Given the description of an element on the screen output the (x, y) to click on. 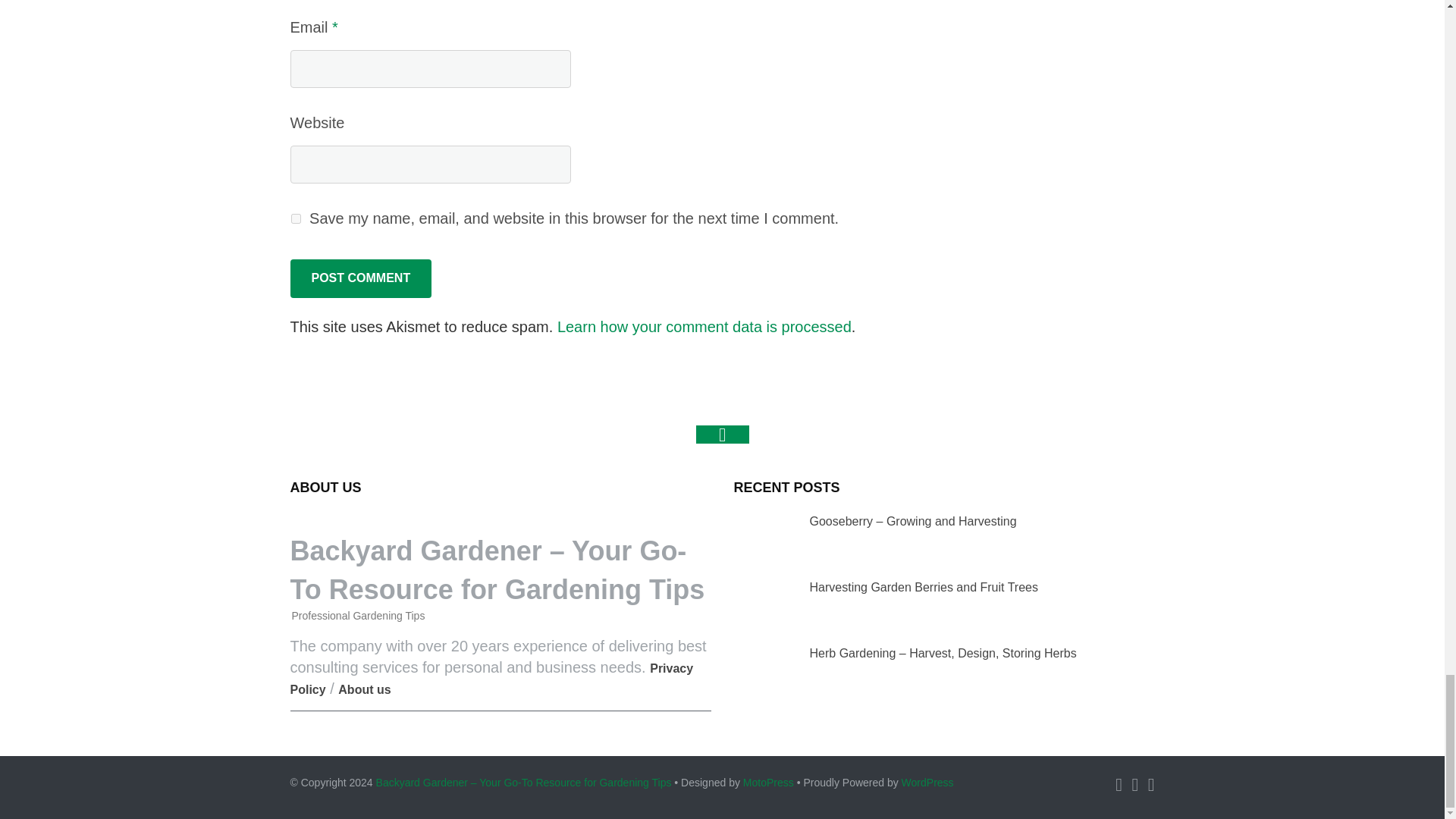
yes (296, 218)
Post Comment (359, 278)
Harvesting Garden Berries and Fruit Trees (761, 602)
